Given the description of an element on the screen output the (x, y) to click on. 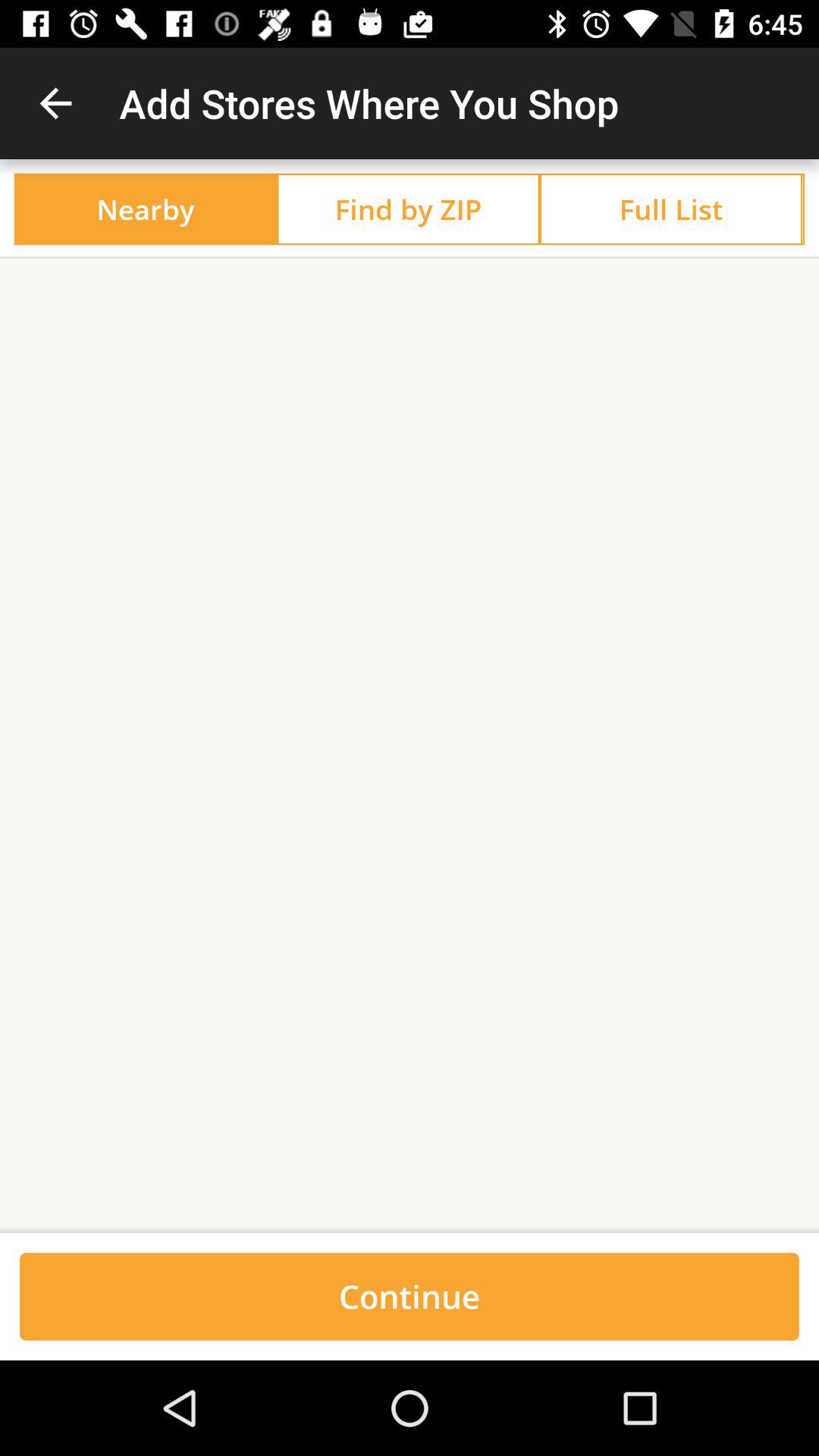
select item next to the add stores where item (55, 103)
